Given the description of an element on the screen output the (x, y) to click on. 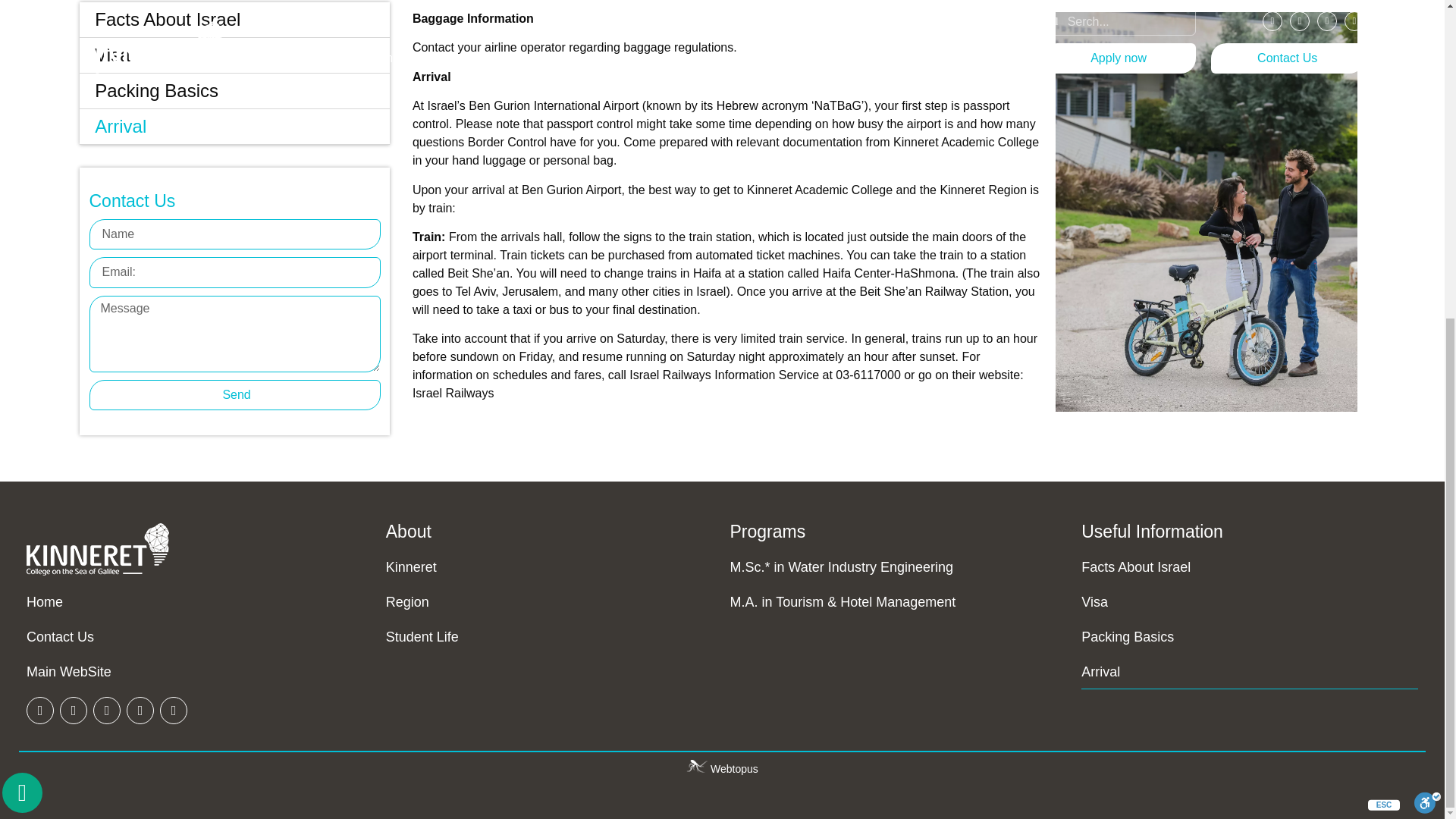
Cancel and Stop display flashes and animations (133, 338)
High-contrast of black and yellow (478, 338)
Navigation on the screen with the keyboard (46, 338)
Display the page in brown sepia color (305, 338)
Webtopus (721, 768)
High-contrast presentation of page (392, 338)
Highlighting all headings marked with title tag (652, 338)
Highlighting all links marked with link tag (737, 338)
Presentation of alternative descriptions permanently (911, 338)
Inverting the colors of the screen display (565, 338)
Presenting an alternative description on mouseover (825, 338)
Replace all the fonts to a readable fonts (997, 338)
